Given the description of an element on the screen output the (x, y) to click on. 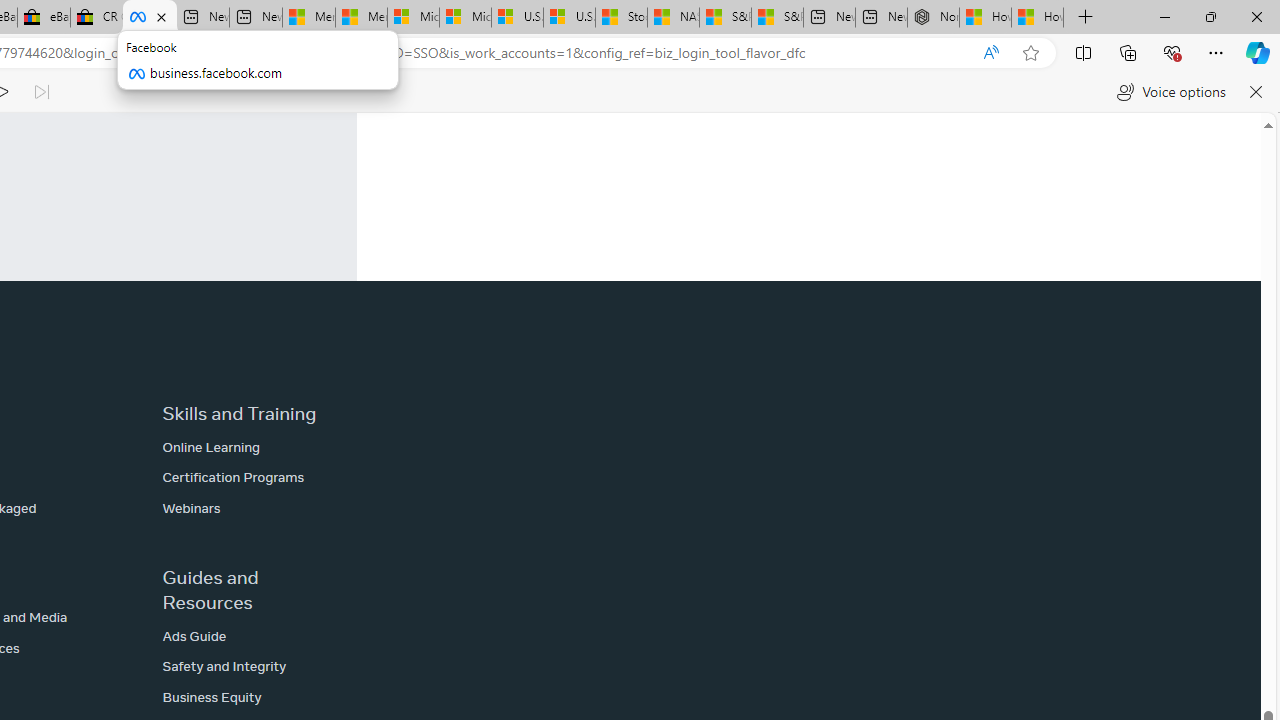
Online Learning (211, 447)
Business Equity (212, 696)
Certification Programs (233, 477)
How to Use a Monitor With Your Closed Laptop (1037, 17)
Close read aloud (1255, 92)
Facebook (150, 17)
Safety and Integrity (224, 666)
Webinars (191, 507)
